Given the description of an element on the screen output the (x, y) to click on. 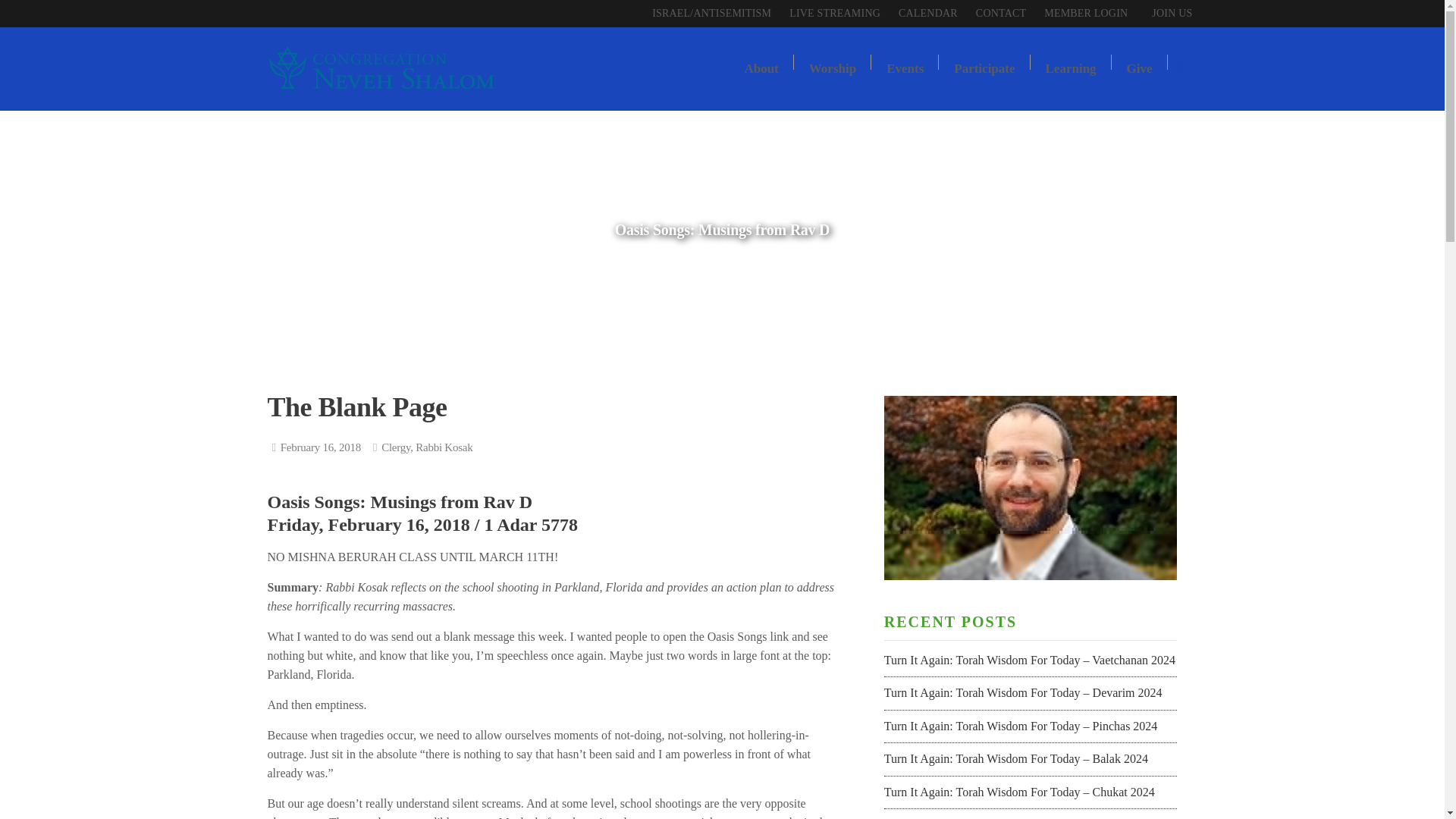
CONTACT (1000, 13)
LIVE STREAMING (834, 13)
JOIN US (1164, 13)
CALENDAR (927, 13)
MEMBER LOGIN (1086, 13)
